Given the description of an element on the screen output the (x, y) to click on. 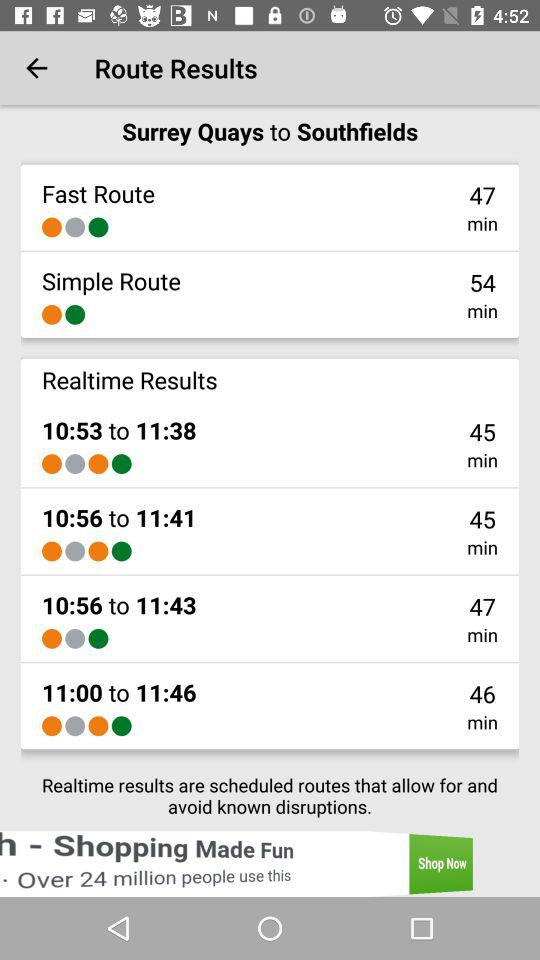
select the item next to the simple route icon (482, 282)
